Given the description of an element on the screen output the (x, y) to click on. 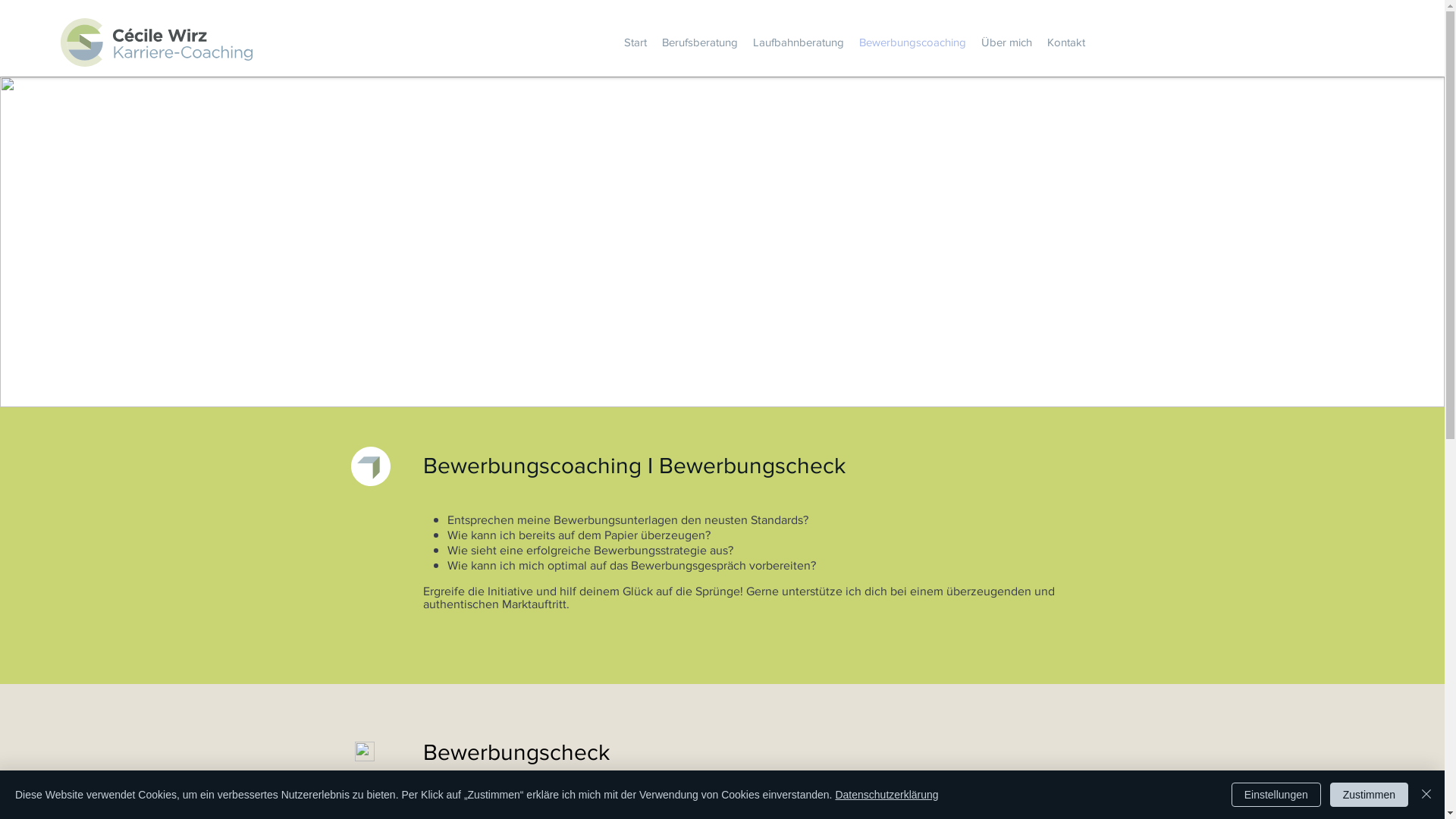
Bewerbungscoaching Element type: text (911, 42)
Kontakt Element type: text (1065, 42)
Start Element type: text (634, 42)
Berufsberatung Element type: text (698, 42)
Zustimmen Element type: text (1369, 794)
Einstellungen Element type: text (1276, 794)
Laufbahnberatung Element type: text (797, 42)
